Given the description of an element on the screen output the (x, y) to click on. 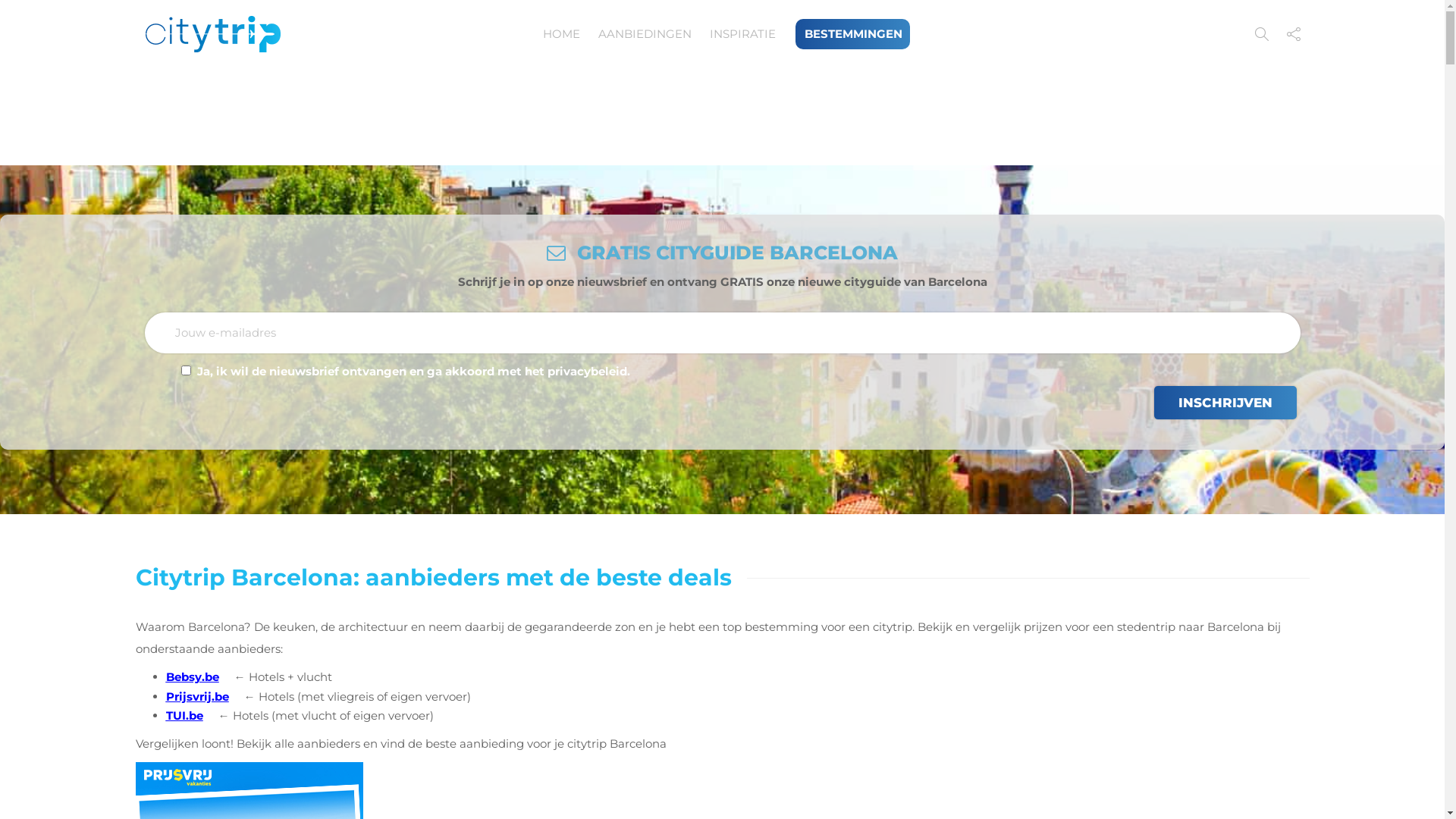
Bebsy.be Element type: text (191, 676)
Prijsvrij.be Element type: text (196, 695)
AANBIEDINGEN Element type: text (644, 33)
privacybeleid. Element type: text (588, 371)
Inschrijven Element type: text (1225, 402)
TUI.be Element type: text (183, 715)
HOME Element type: text (561, 33)
BESTEMMINGEN Element type: text (857, 33)
INSPIRATIE Element type: text (742, 33)
